Given the description of an element on the screen output the (x, y) to click on. 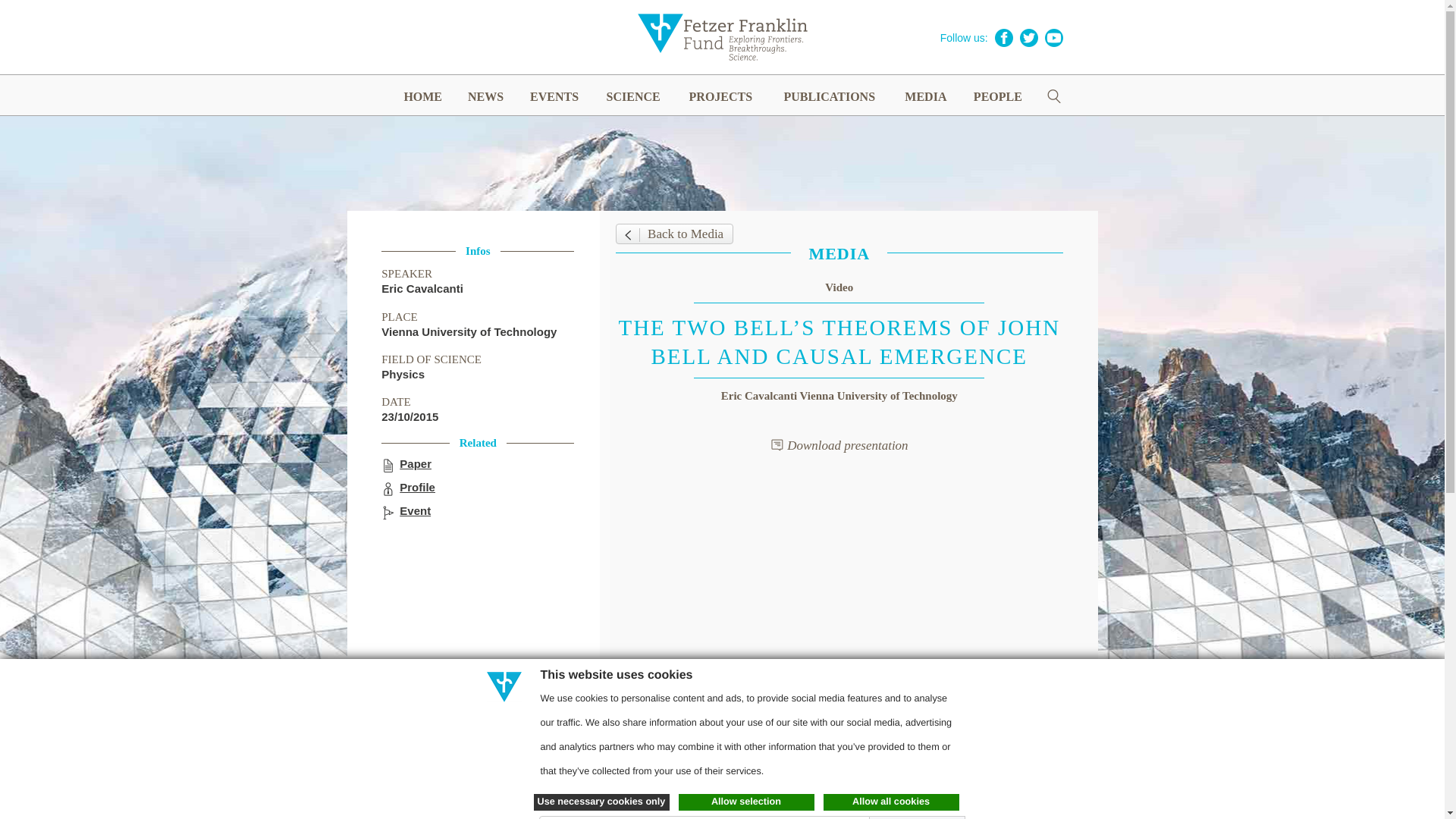
Use necessary cookies only (601, 801)
Allow all cookies (891, 801)
Allow selection (745, 801)
